Given the description of an element on the screen output the (x, y) to click on. 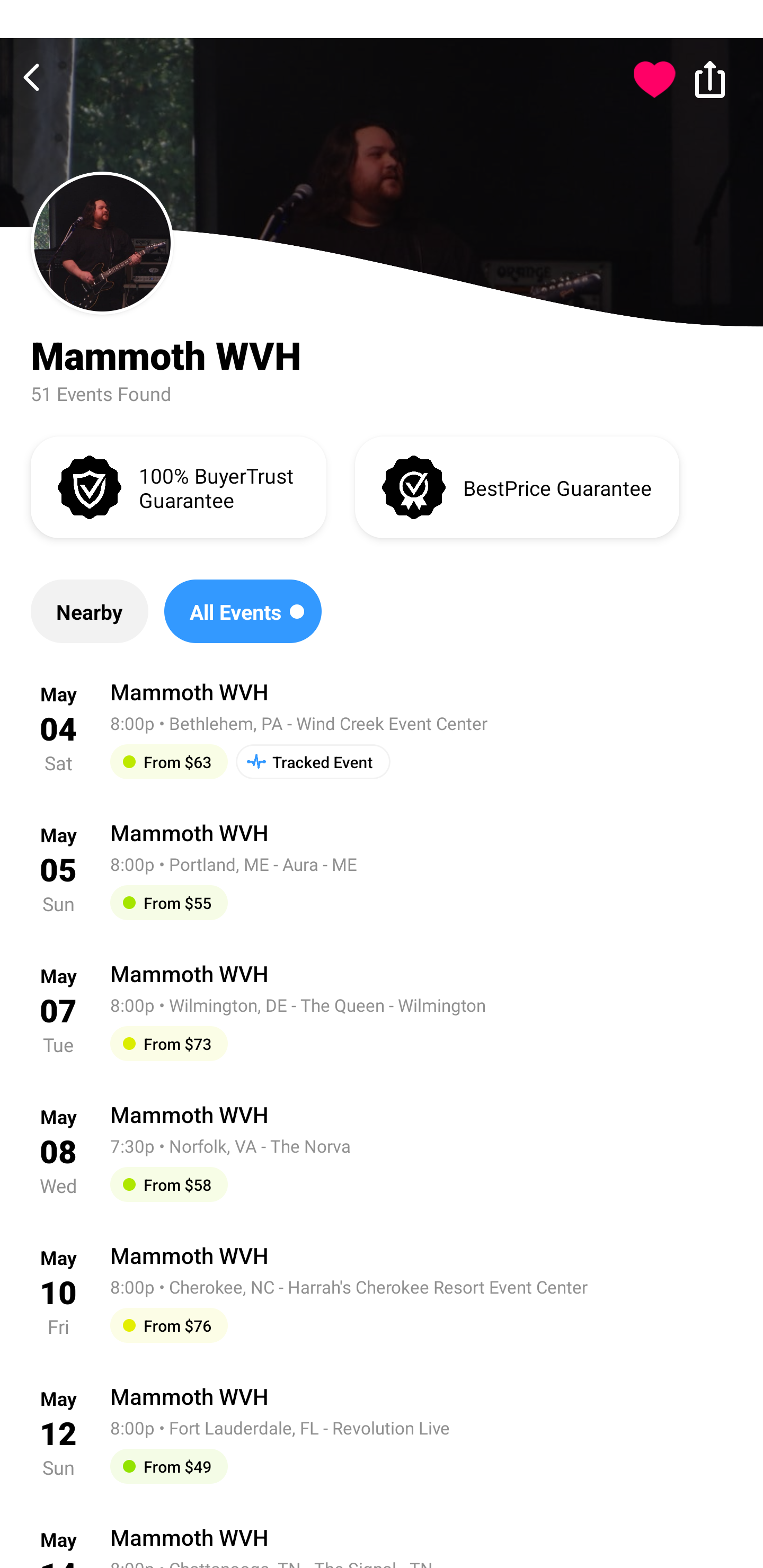
100% BuyerTrust Guarantee (178, 486)
BestPrice Guarantee (516, 486)
Nearby (89, 611)
All Events (242, 611)
